Given the description of an element on the screen output the (x, y) to click on. 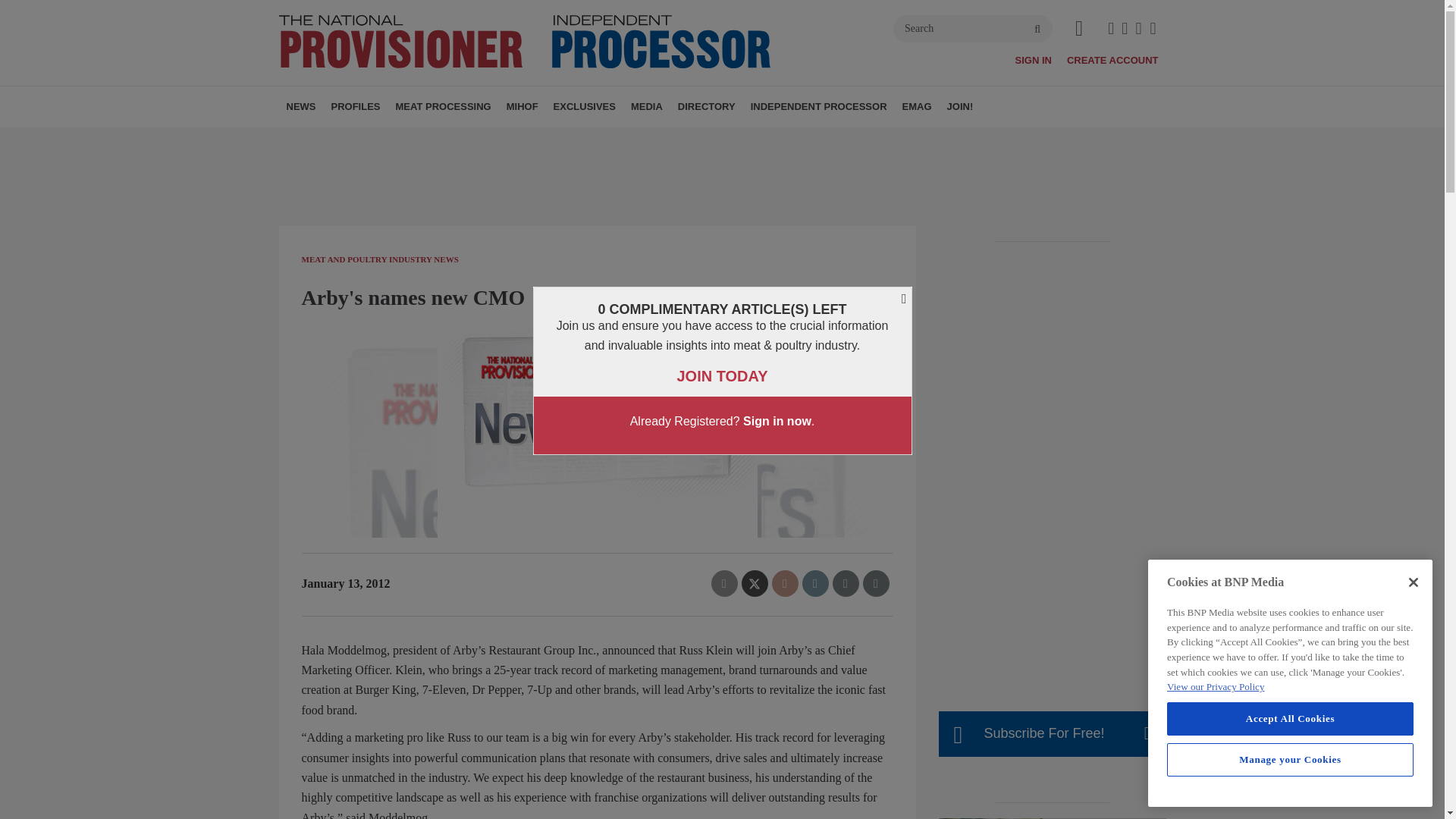
Search (972, 28)
Search (972, 28)
